Given the description of an element on the screen output the (x, y) to click on. 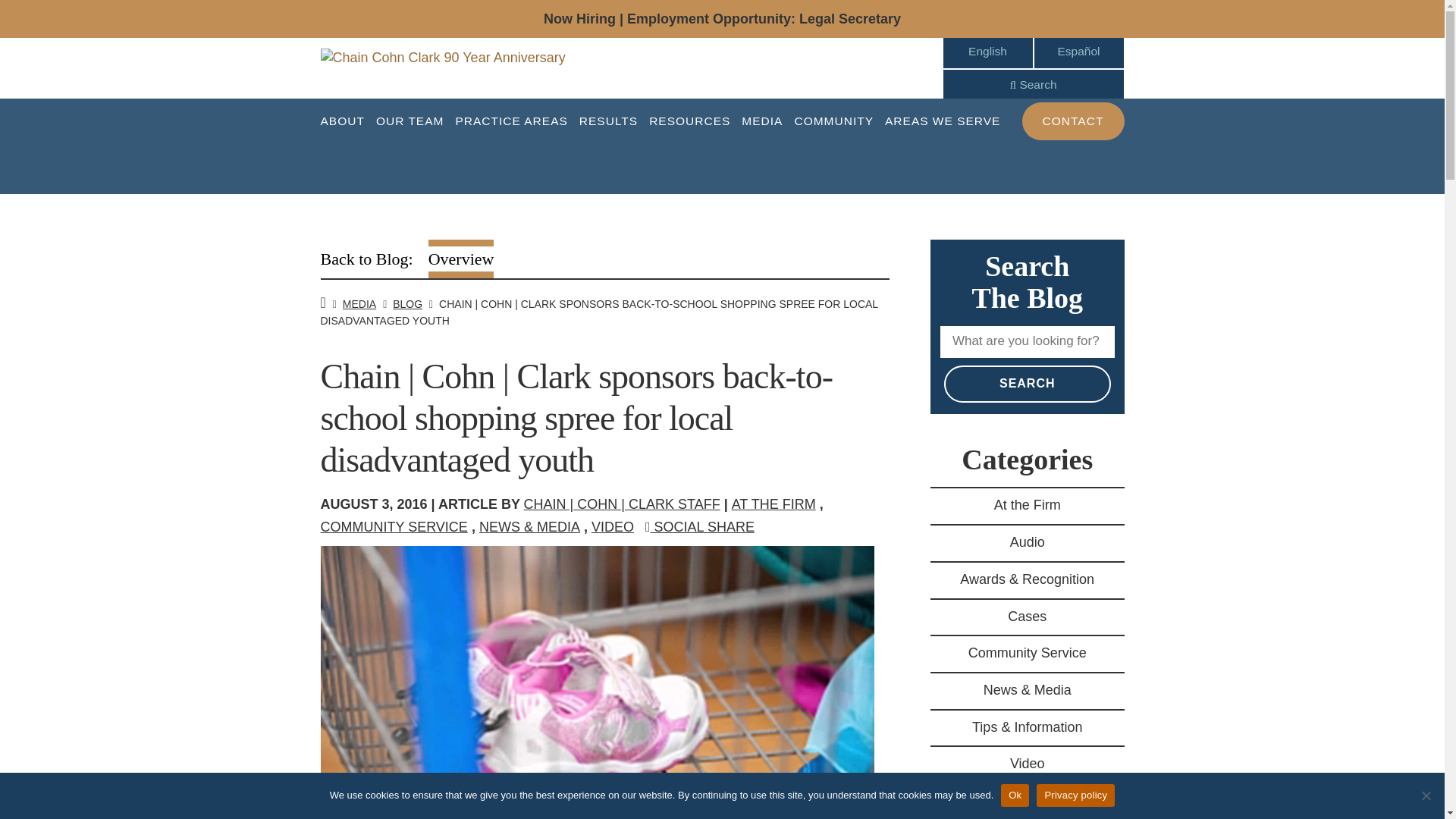
Contact us to discuss your personal injury law matter (1073, 121)
Search (1026, 383)
No (1425, 795)
